Given the description of an element on the screen output the (x, y) to click on. 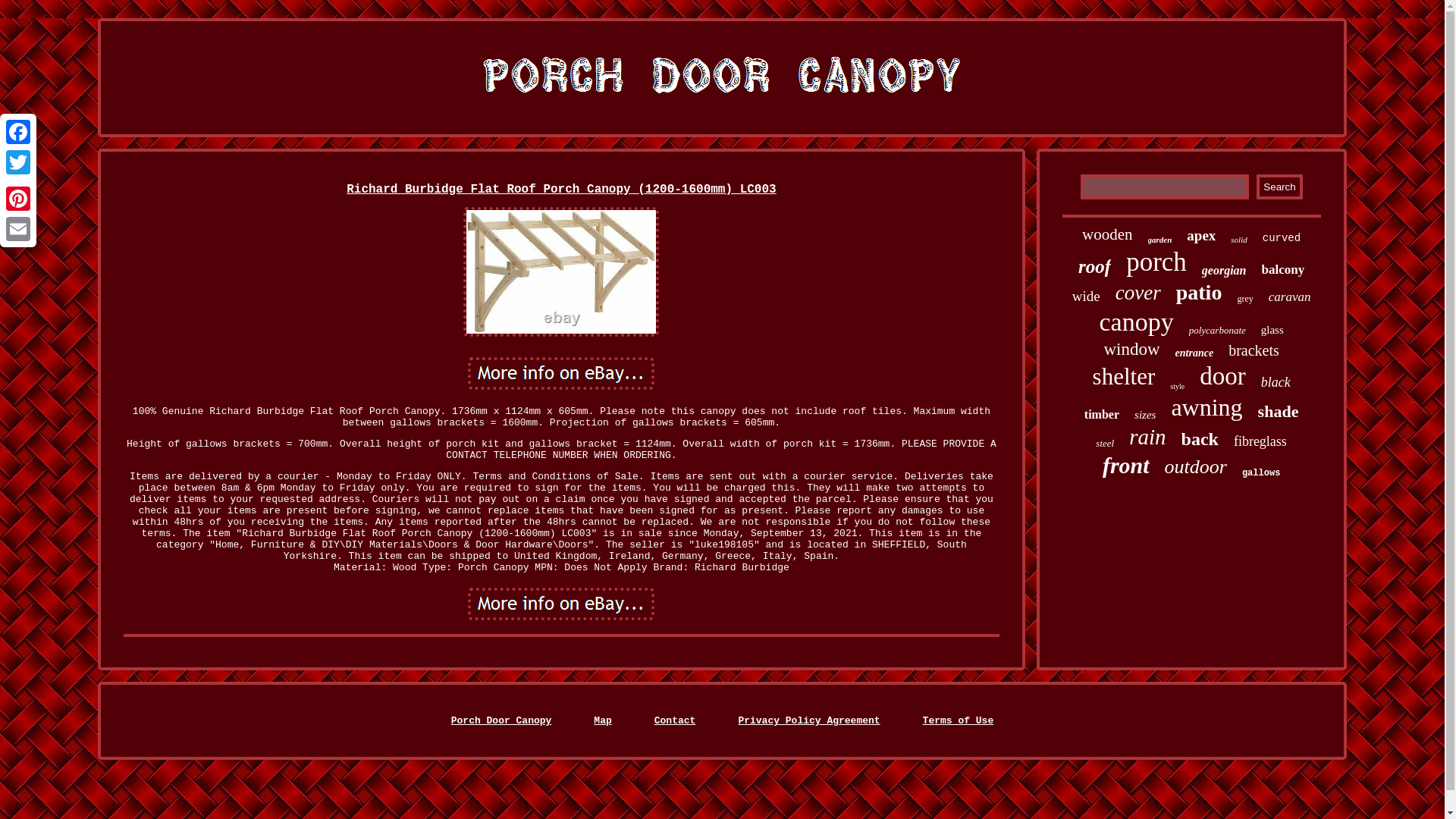
glass (1272, 329)
wooden (1106, 234)
door (1222, 376)
entrance (1194, 353)
curved (1281, 237)
grey (1244, 298)
canopy (1136, 321)
patio (1199, 292)
solid (1238, 239)
brackets (1253, 350)
polycarbonate (1217, 330)
Facebook (17, 132)
Search (1278, 186)
caravan (1289, 296)
Twitter (17, 162)
